Given the description of an element on the screen output the (x, y) to click on. 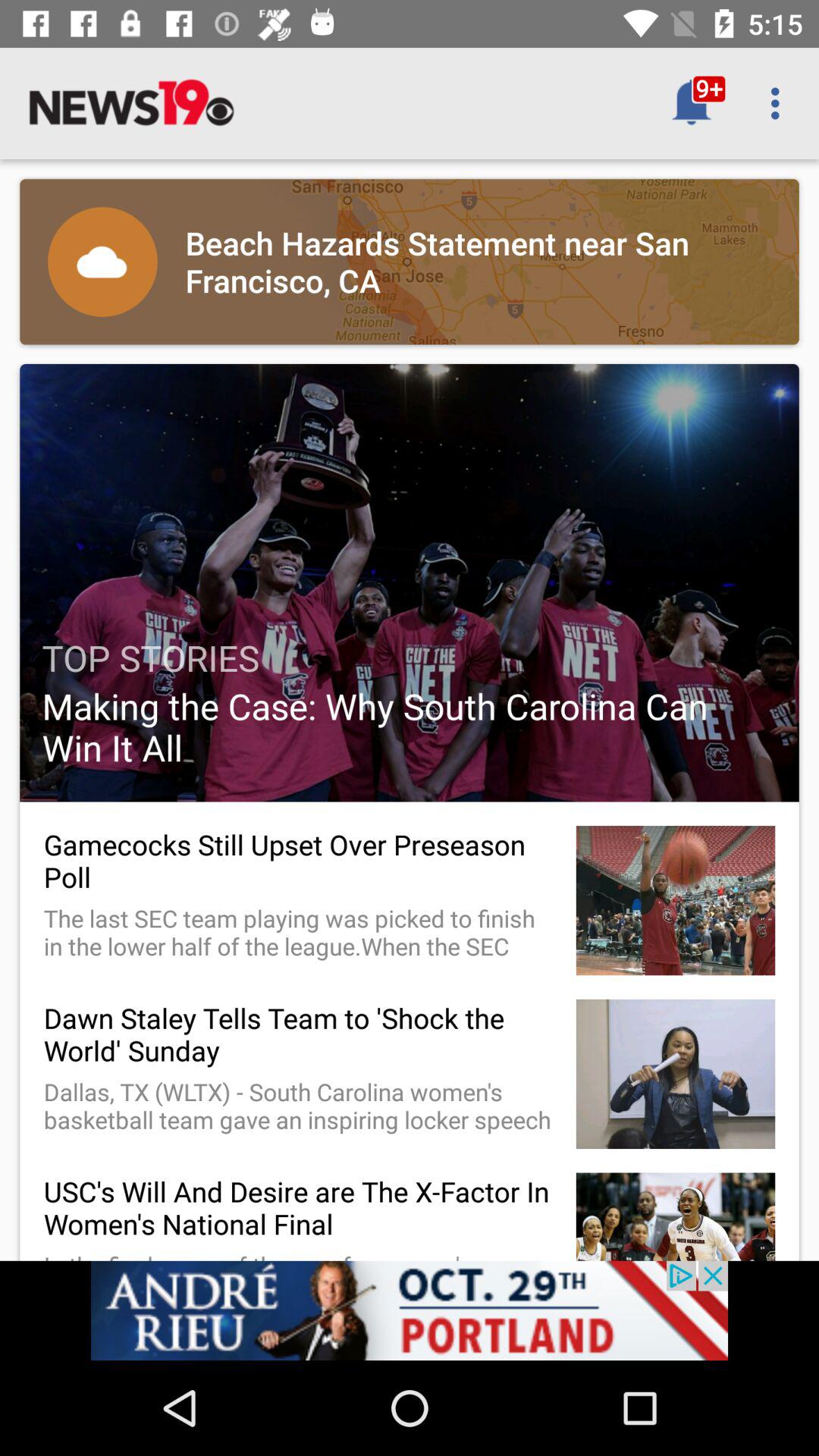
go to the frame in the middle of the page (409, 583)
